Given the description of an element on the screen output the (x, y) to click on. 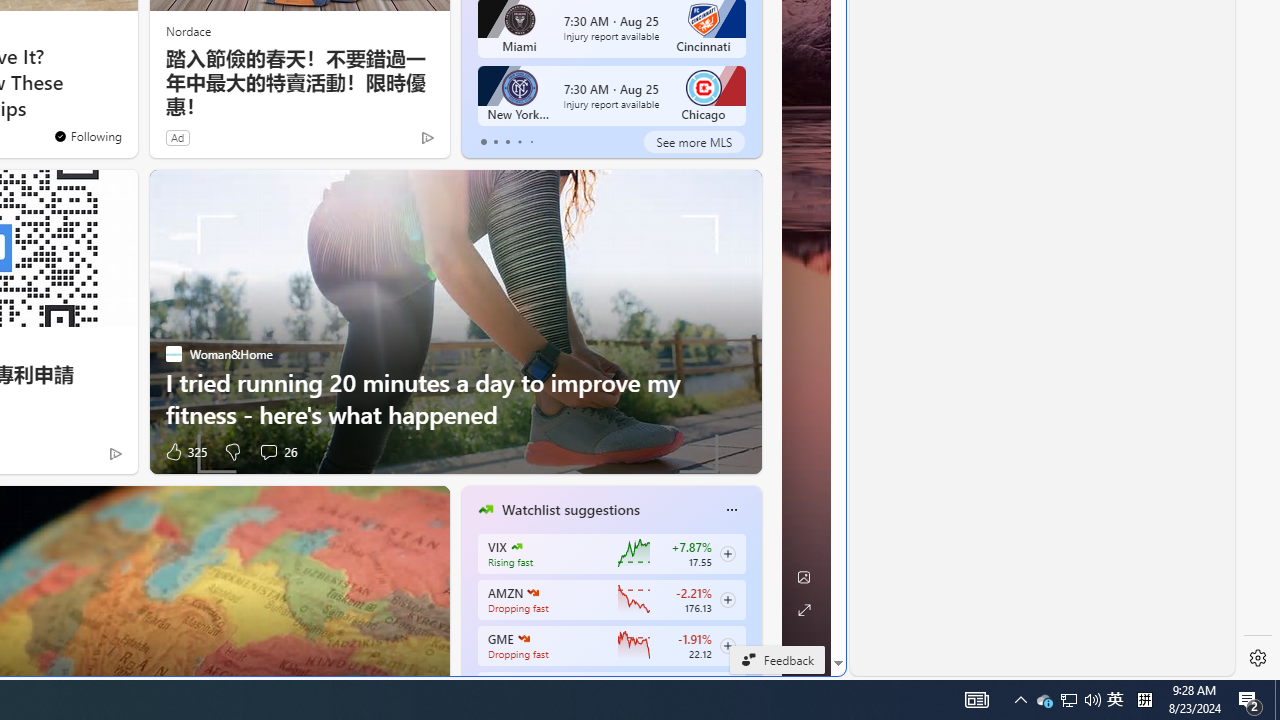
tab-1 (494, 142)
You're following The Weather Channel (87, 135)
tab-3 (519, 142)
Class: follow-button  m (727, 645)
tab-0 (483, 142)
Edit Background (803, 577)
